Given the description of an element on the screen output the (x, y) to click on. 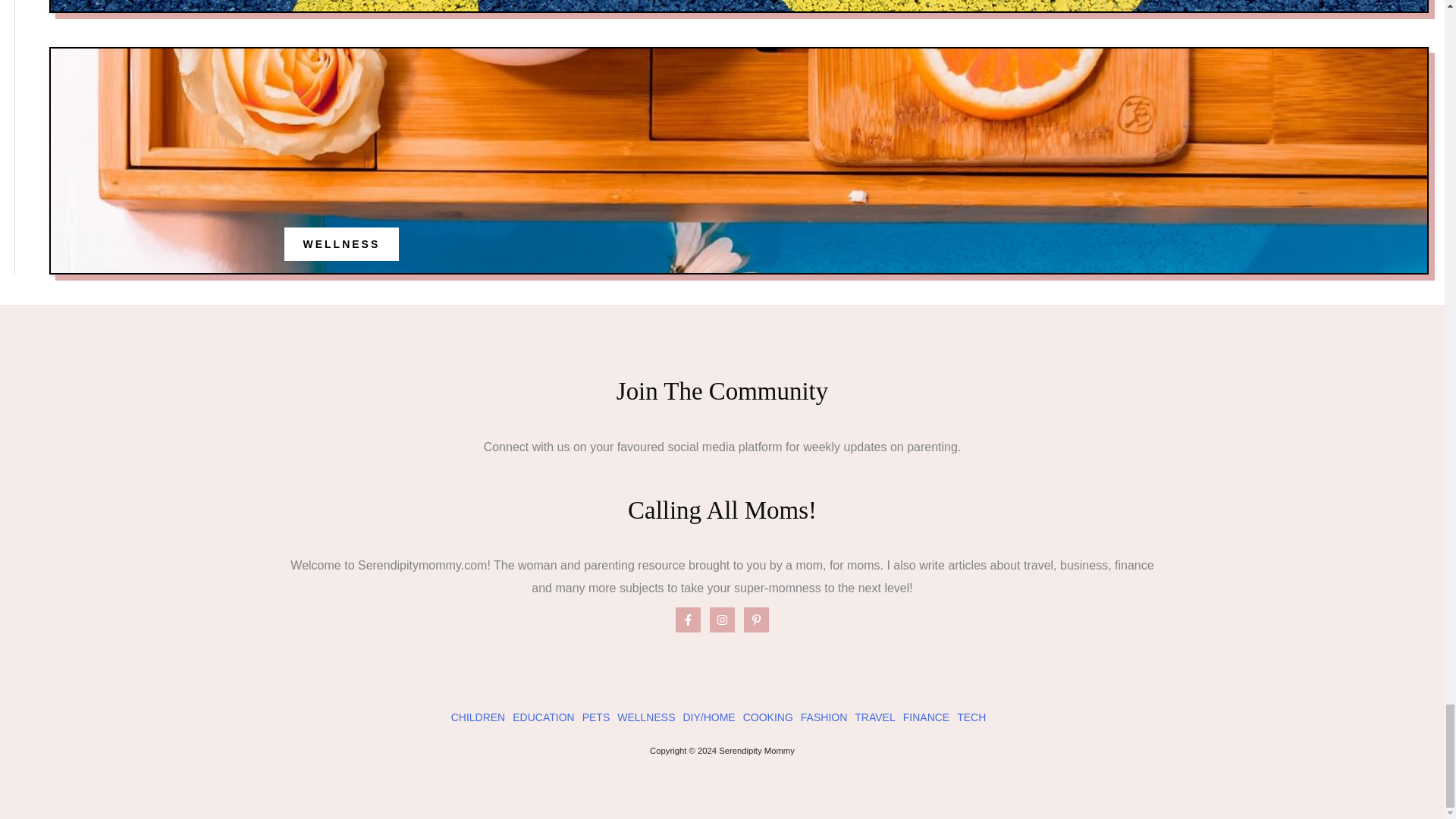
WELLNESS (341, 243)
PETS (596, 717)
WELLNESS (646, 717)
CHILDREN (478, 717)
EDUCATION (542, 717)
